Given the description of an element on the screen output the (x, y) to click on. 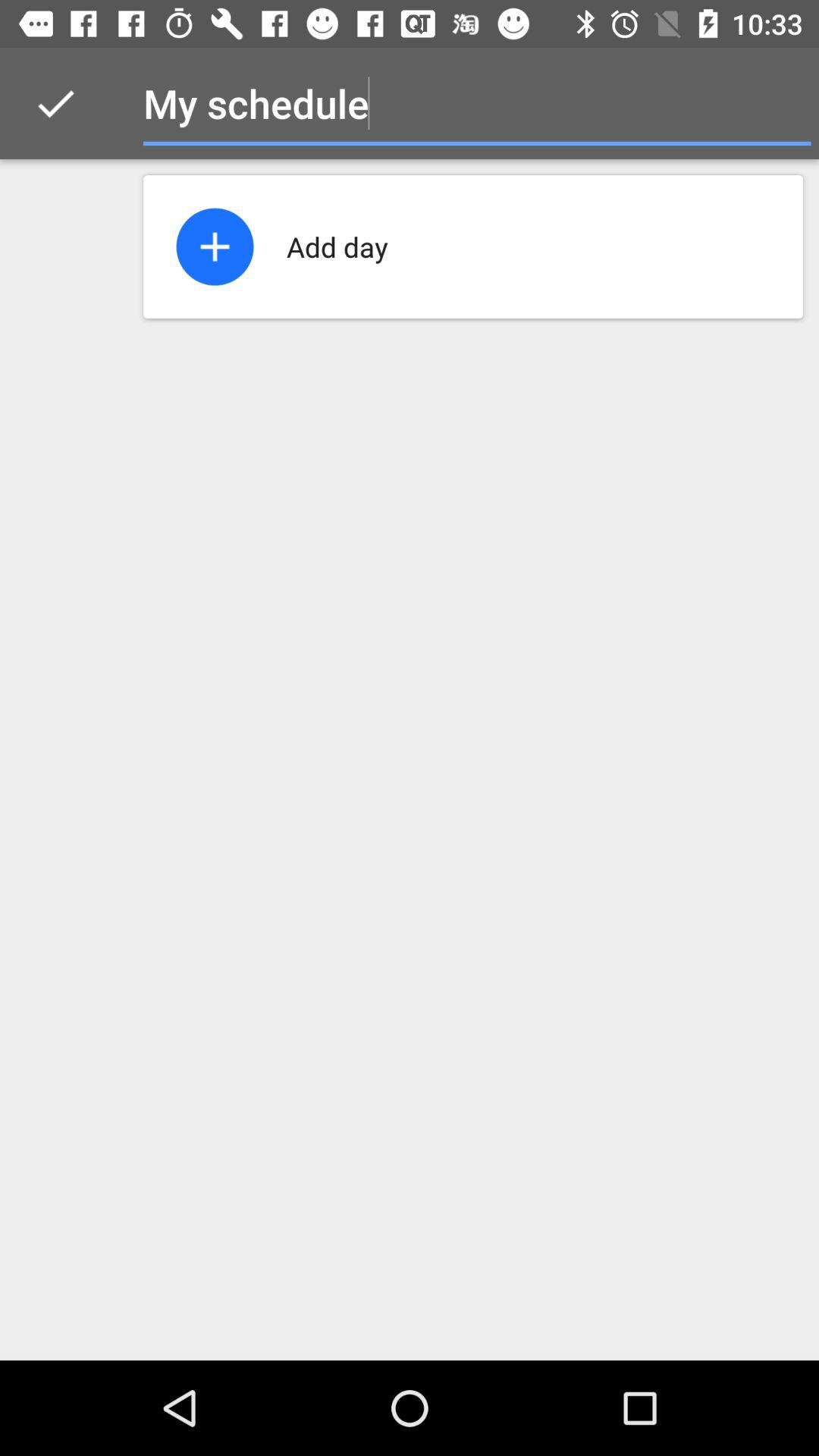
choose the icon next to my schedule (55, 103)
